Given the description of an element on the screen output the (x, y) to click on. 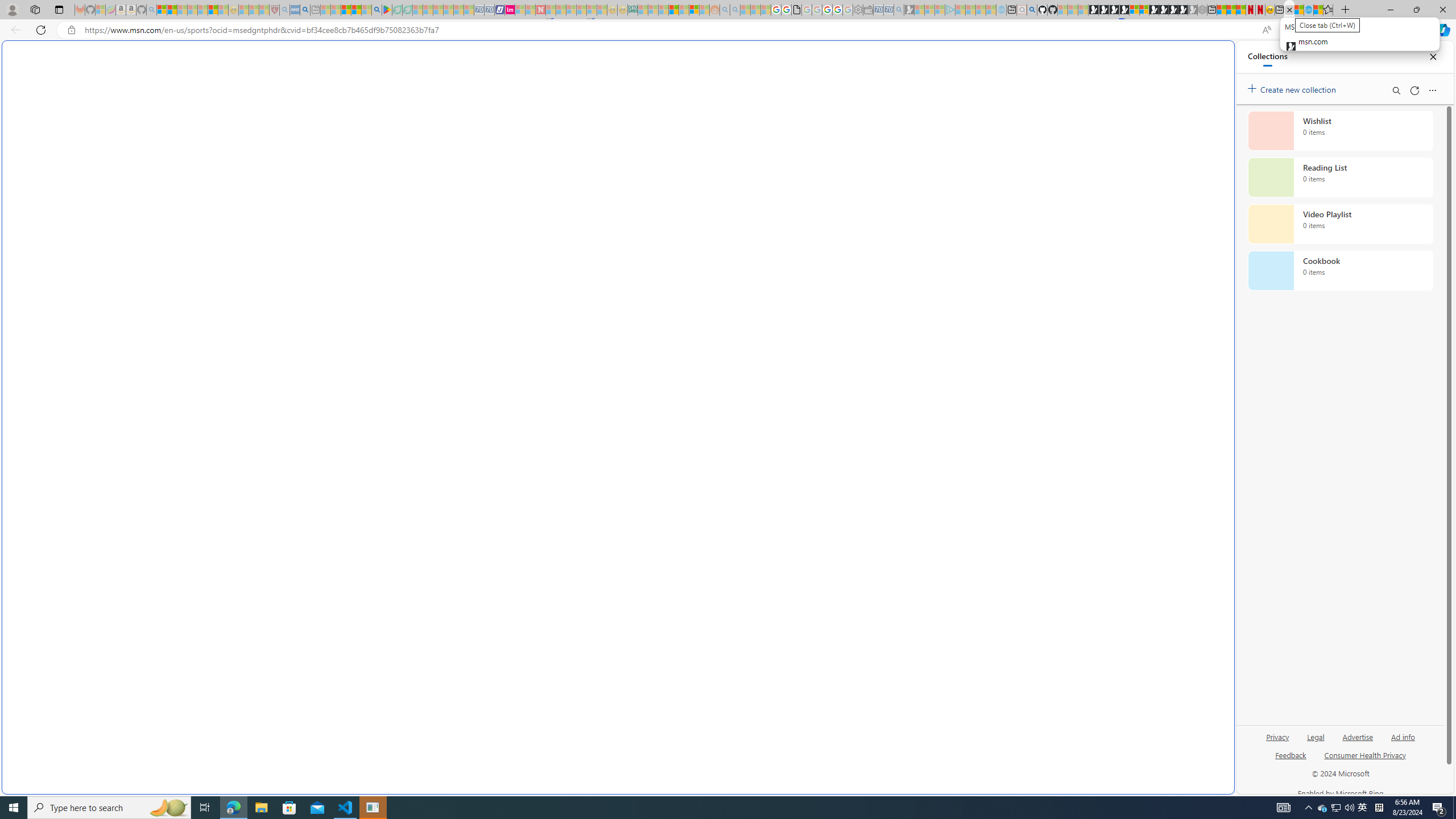
More options menu (1432, 90)
Sign in to your account (1134, 9)
